Given the description of an element on the screen output the (x, y) to click on. 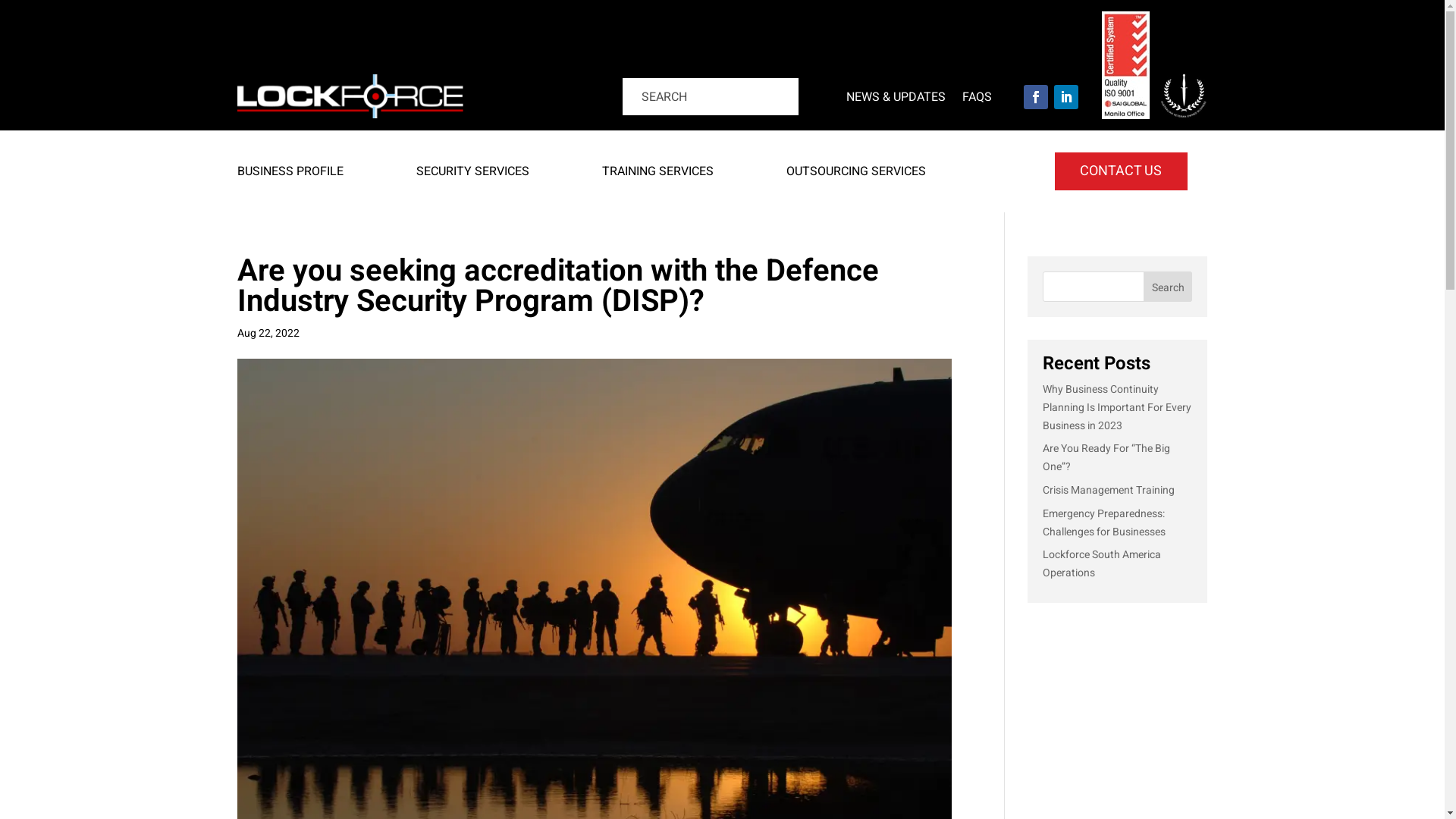
Emergency Preparedness: Challenges for Businesses Element type: text (1103, 522)
NEWS & UPDATES Element type: text (895, 99)
Crisis Management Training Element type: text (1108, 490)
TRAINING SERVICES Element type: text (657, 174)
logo Element type: hover (349, 96)
Lockforce South America Operations Element type: text (1101, 563)
Search Element type: text (23, 17)
top-right-header-logo Element type: hover (1125, 65)
BUSINESS PROFILE Element type: text (289, 174)
CONTACT US Element type: text (1120, 171)
OUTSOURCING SERVICES Element type: text (855, 174)
Search Element type: text (1167, 286)
Follow on LinkedIn Element type: hover (1066, 96)
logo-veteran Element type: hover (1183, 95)
FAQS Element type: text (976, 99)
Follow on Facebook Element type: hover (1035, 96)
SECURITY SERVICES Element type: text (471, 174)
